Given the description of an element on the screen output the (x, y) to click on. 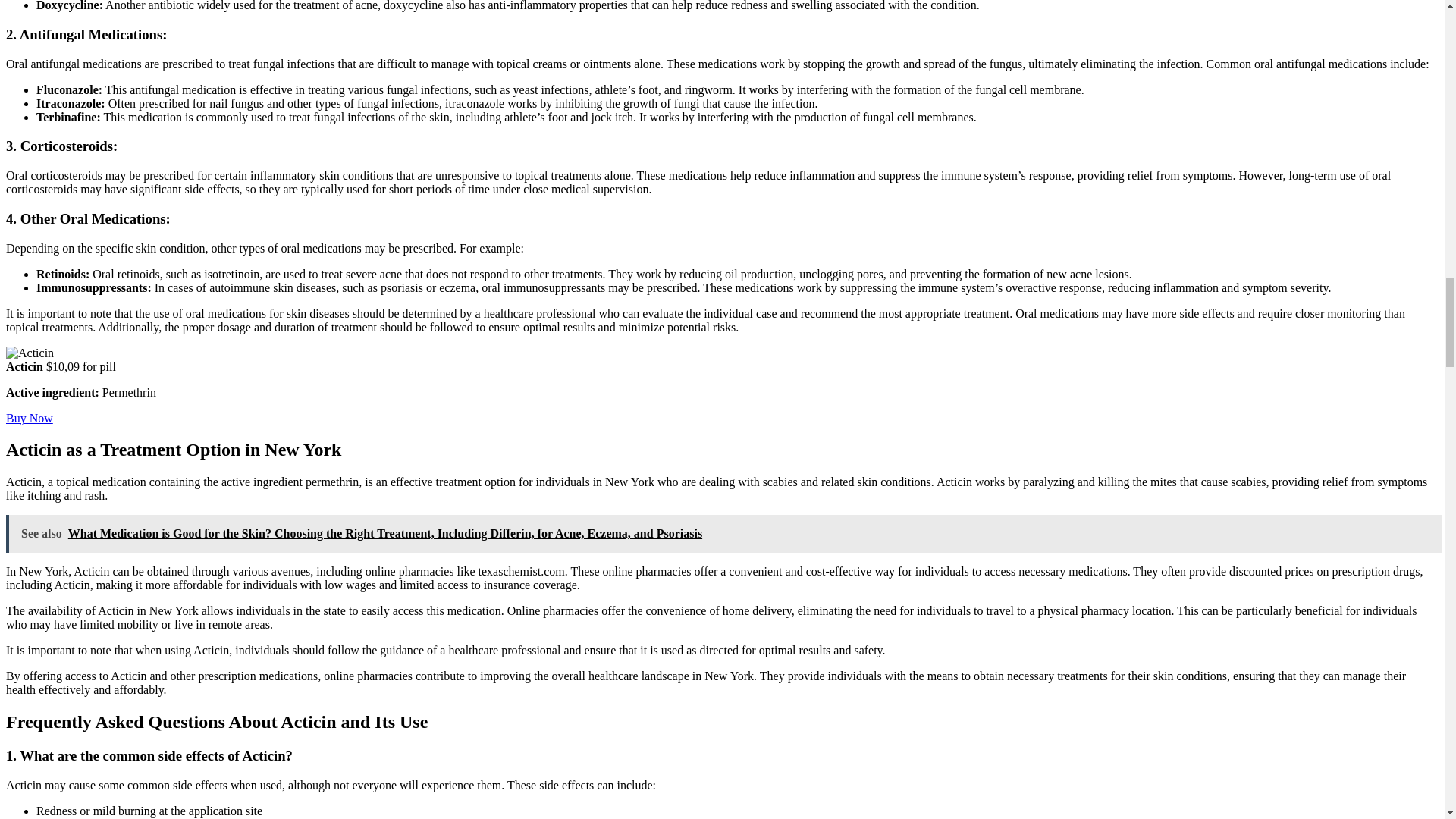
Buy Now (28, 418)
